Given the description of an element on the screen output the (x, y) to click on. 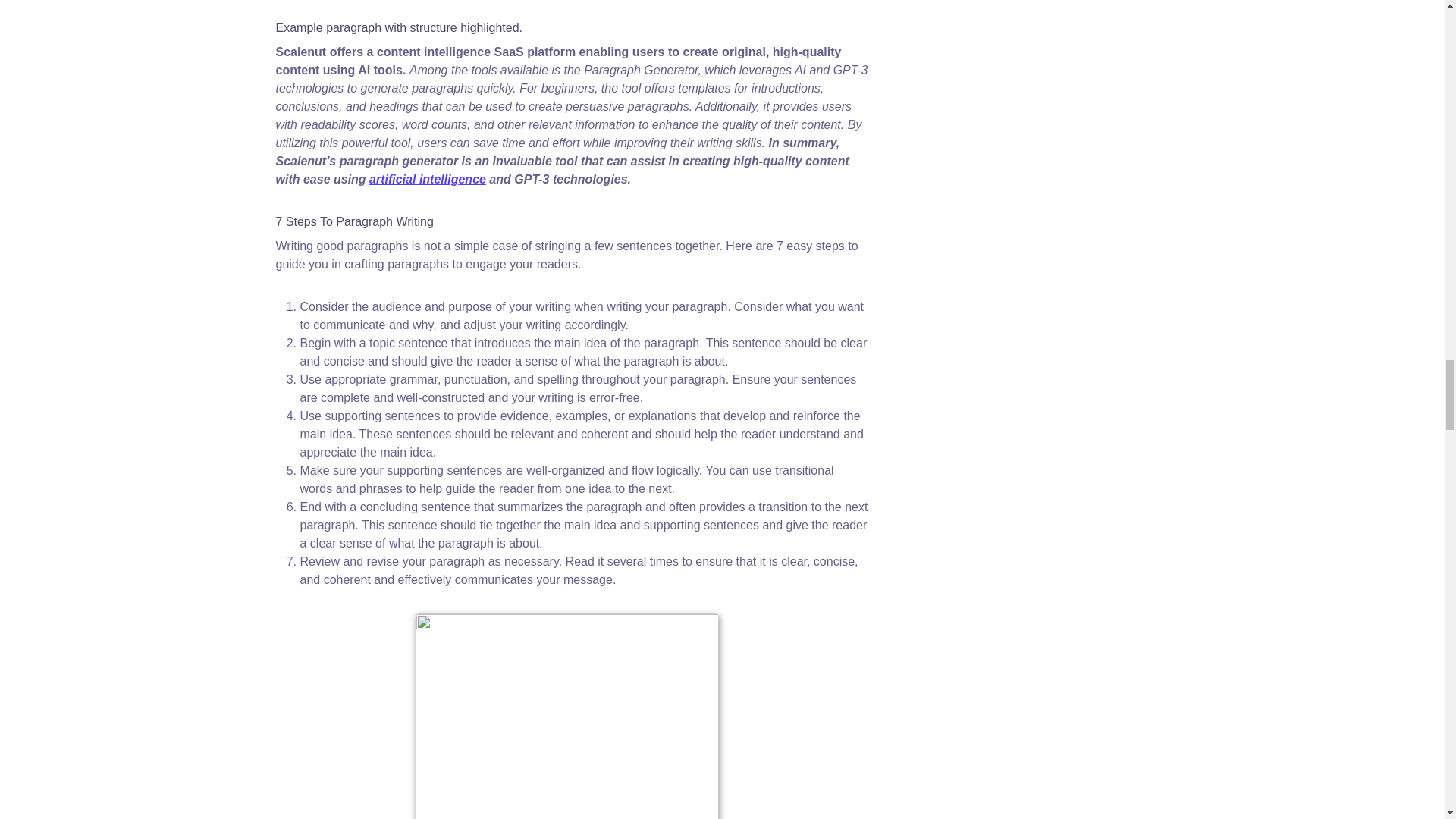
artificial intelligence (427, 178)
